Given the description of an element on the screen output the (x, y) to click on. 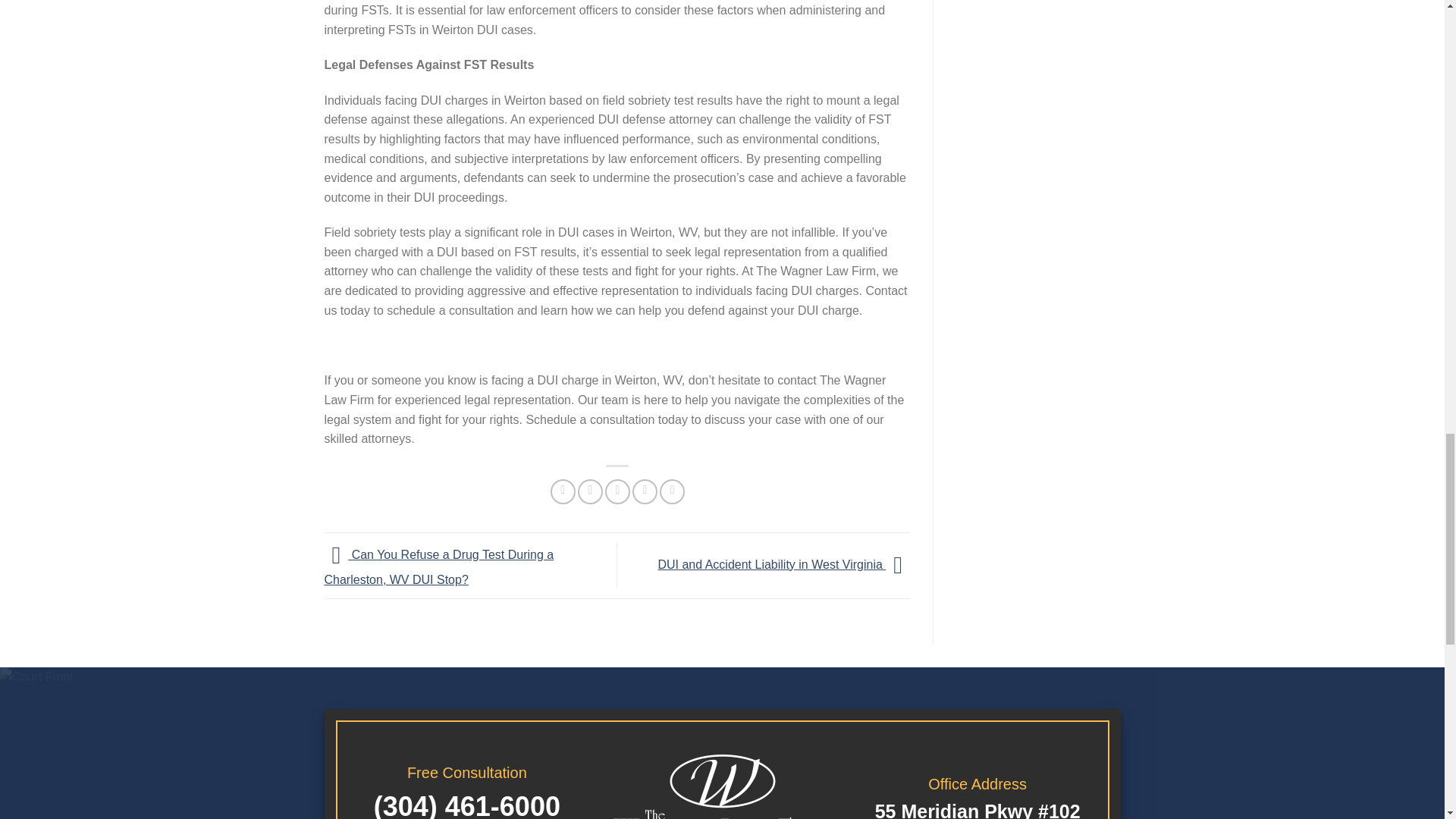
Pin on Pinterest (644, 491)
Share on Facebook (562, 491)
Email to a Friend (617, 491)
Share on LinkedIn (671, 491)
Share on Twitter (590, 491)
